Given the description of an element on the screen output the (x, y) to click on. 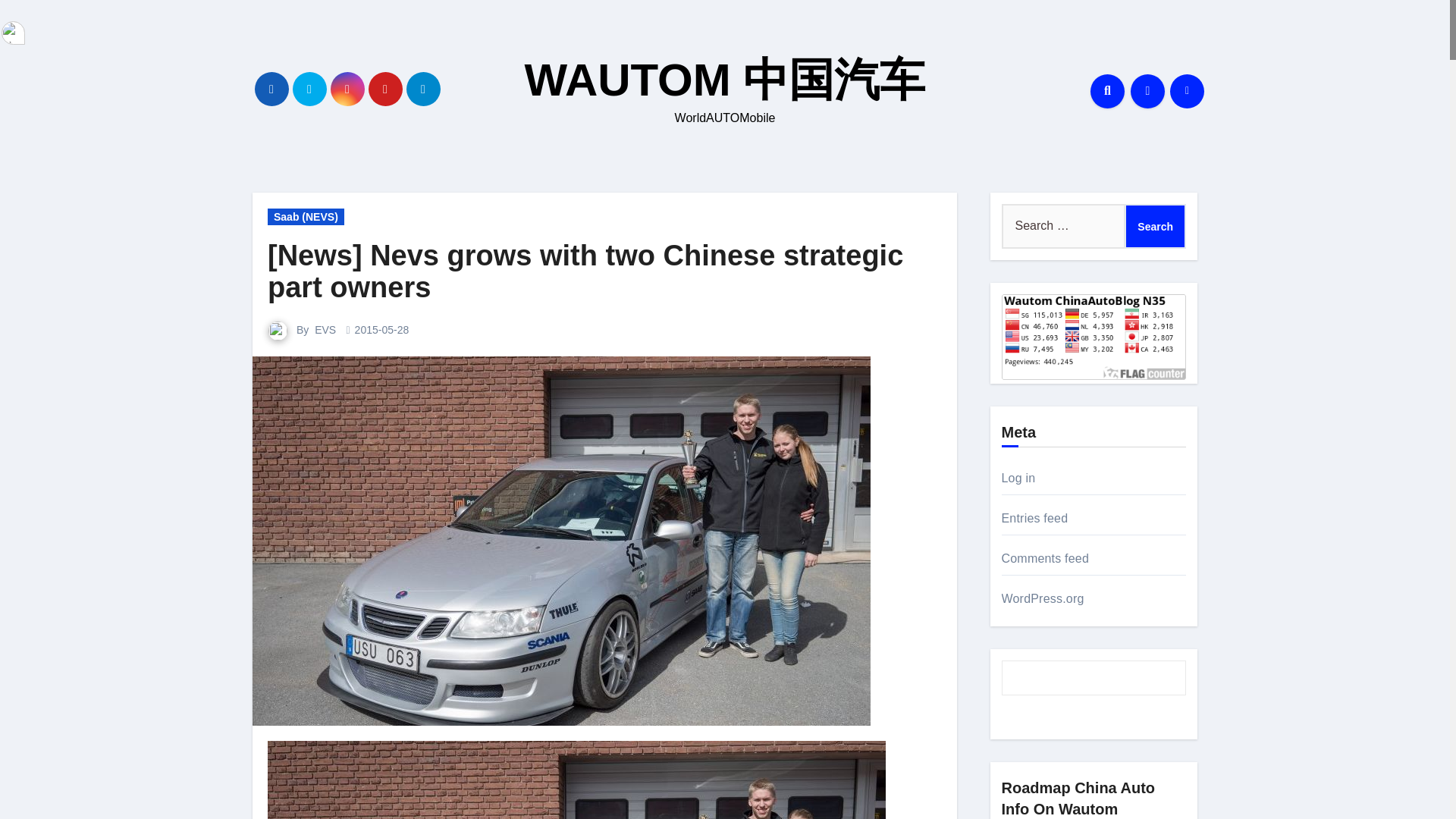
2015-05-28 (382, 329)
Search (1155, 225)
Search (1155, 225)
EVS (325, 329)
brid1970 (12, 33)
